Given the description of an element on the screen output the (x, y) to click on. 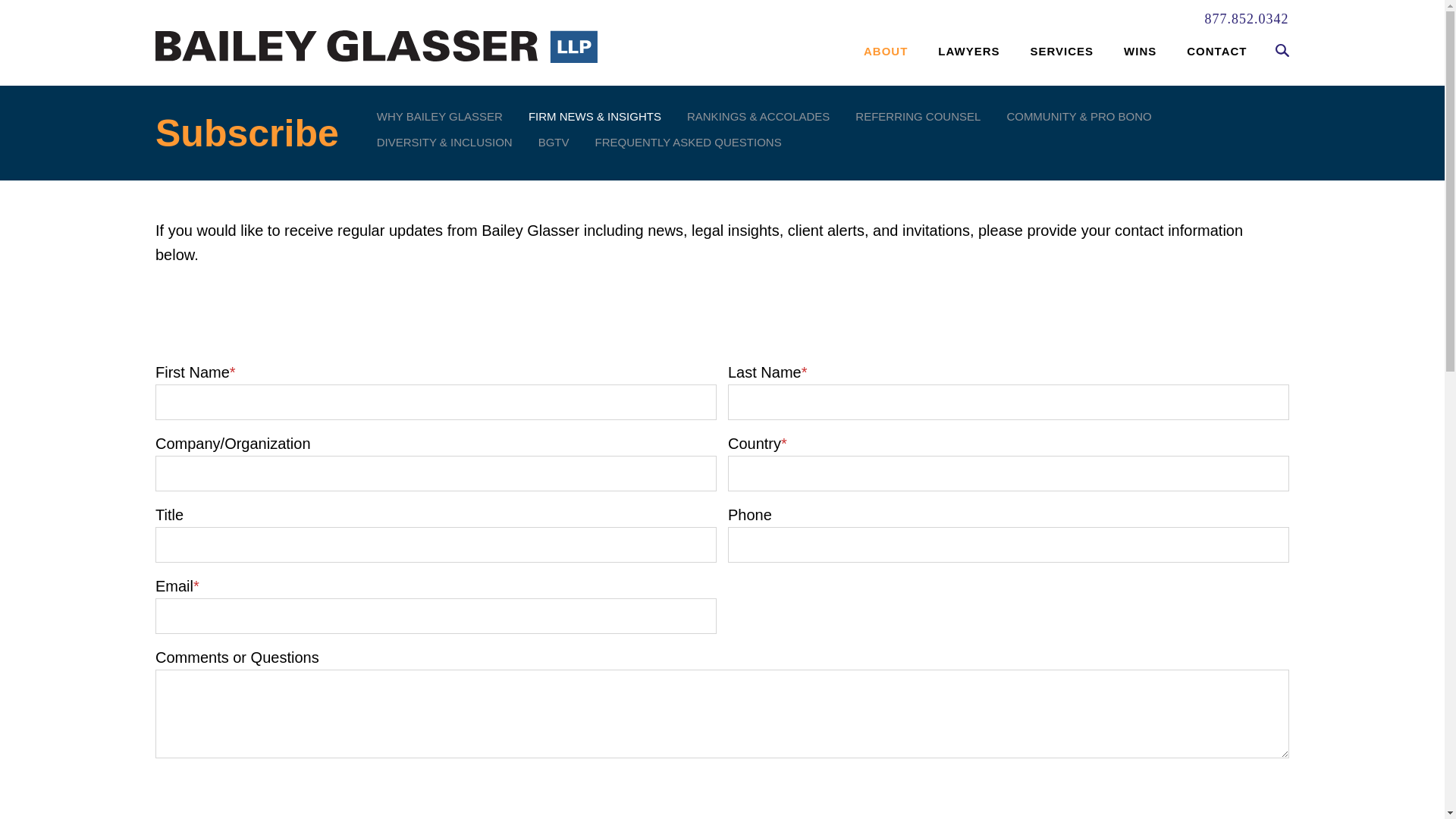
Main Content (665, 20)
Main Menu (673, 20)
ABOUT (885, 55)
LAWYERS (967, 55)
Menu (673, 20)
SERVICES (1062, 55)
